Given the description of an element on the screen output the (x, y) to click on. 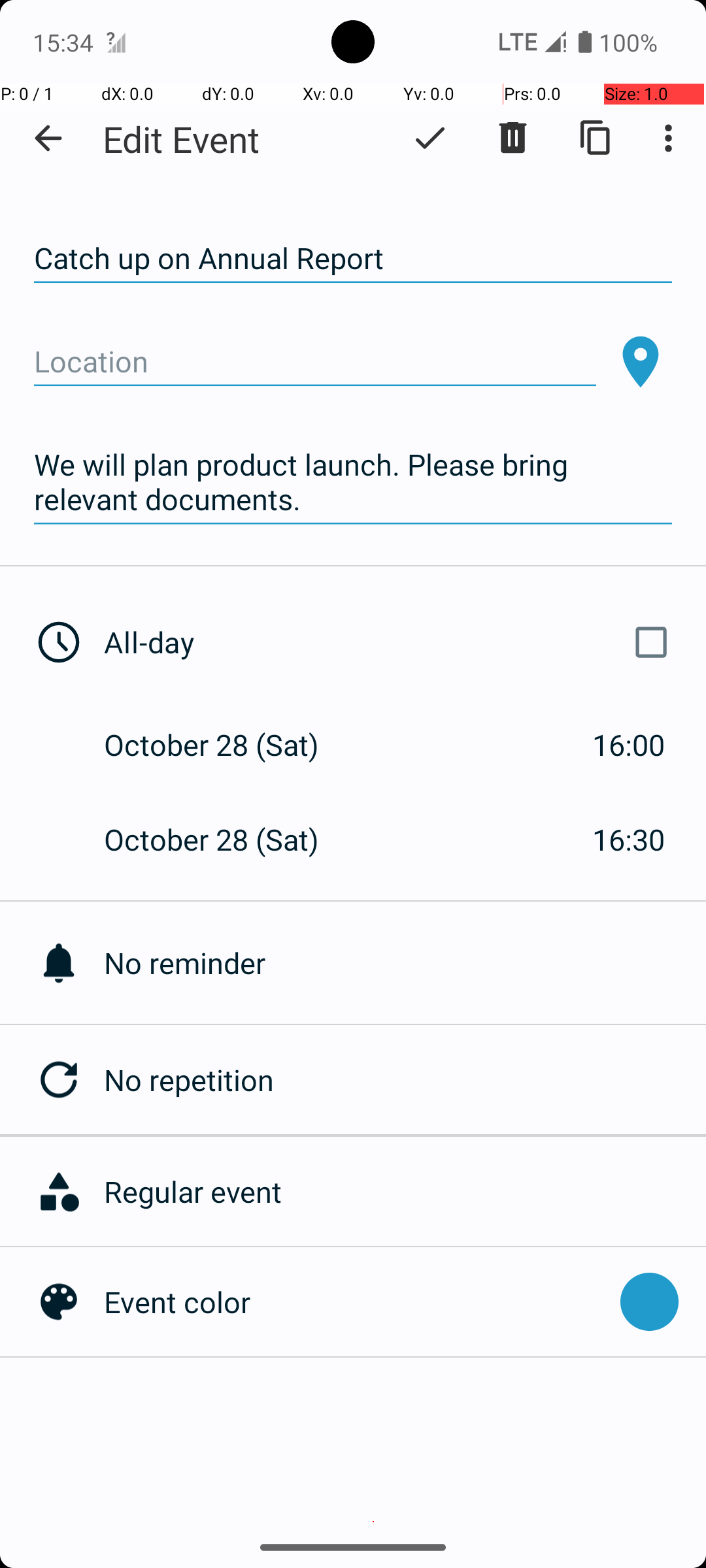
We will plan product launch. Please bring relevant documents. Element type: android.widget.EditText (352, 482)
October 28 (Sat) Element type: android.widget.TextView (224, 744)
16:30 Element type: android.widget.TextView (628, 838)
